Given the description of an element on the screen output the (x, y) to click on. 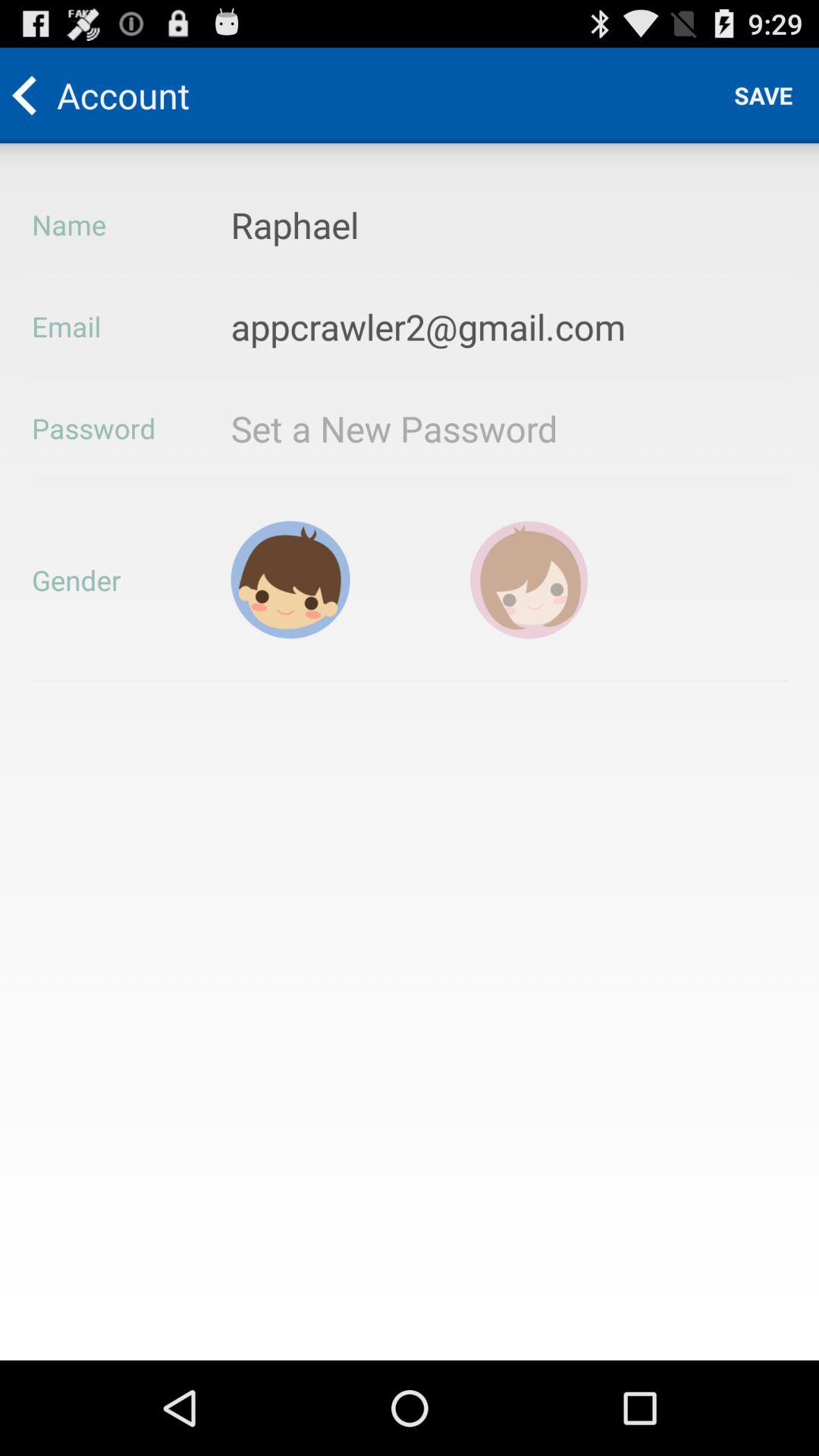
this is a face book account (529, 579)
